Given the description of an element on the screen output the (x, y) to click on. 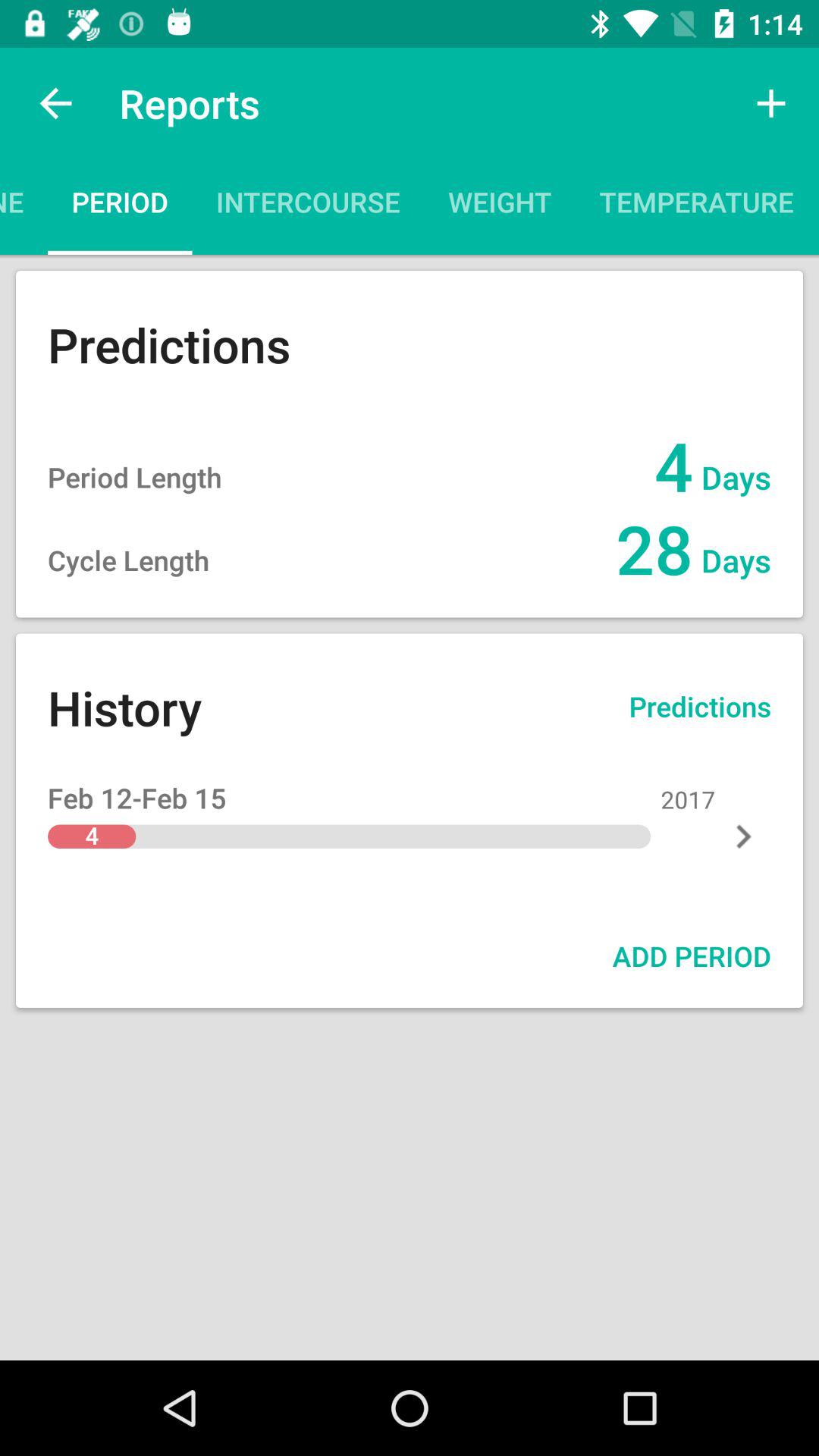
click the icon above timeline icon (55, 103)
